Given the description of an element on the screen output the (x, y) to click on. 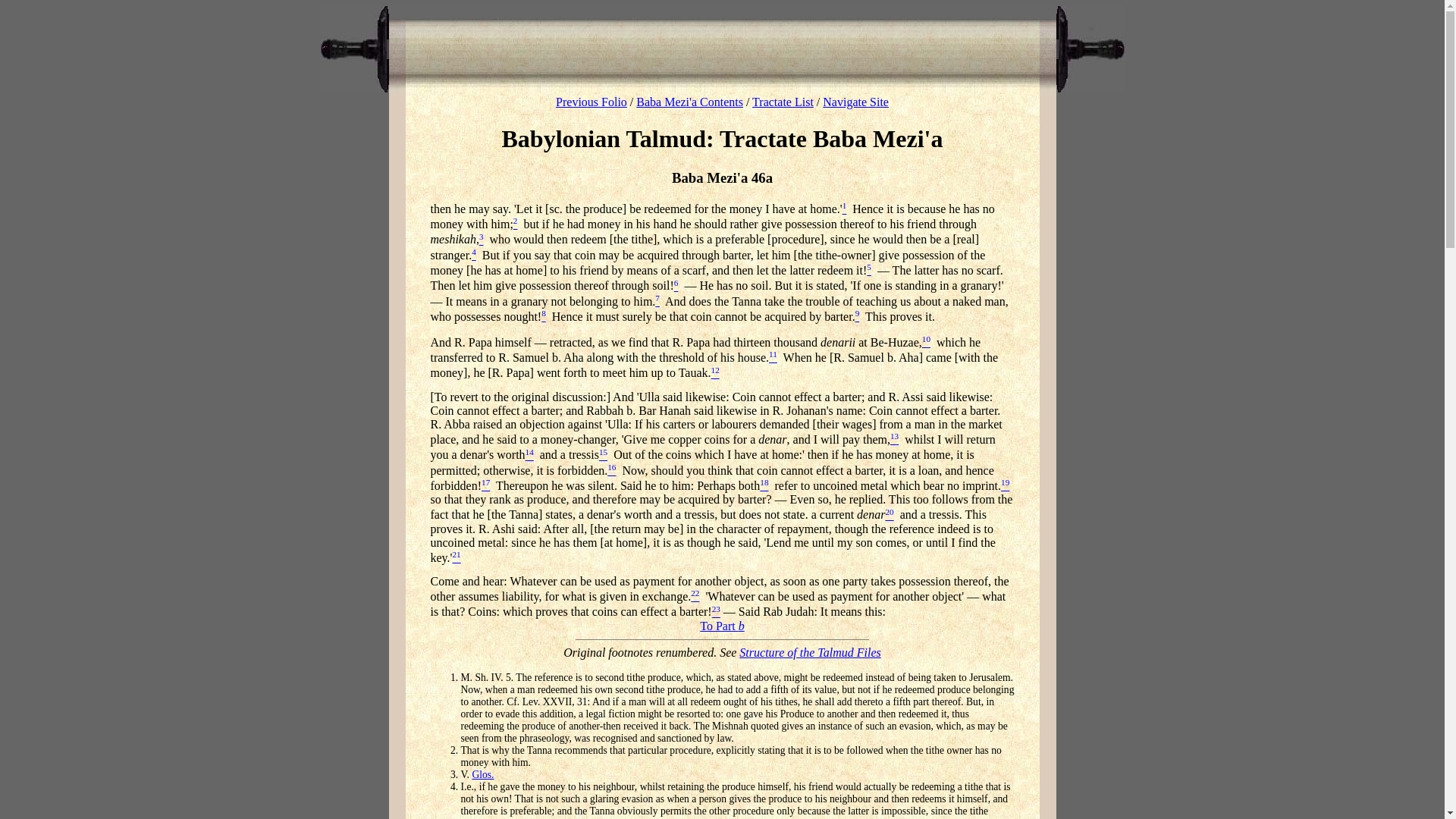
Baba Mezi'a 46a (722, 177)
23 (715, 612)
22 (694, 595)
Glos. (482, 774)
16 (611, 470)
Baba Mezi'a Contents (689, 101)
3 (481, 239)
18 (764, 485)
20 (889, 513)
11 (772, 357)
To Part b (722, 625)
15 (602, 454)
10 (925, 341)
12 (715, 373)
19 (1005, 485)
